Given the description of an element on the screen output the (x, y) to click on. 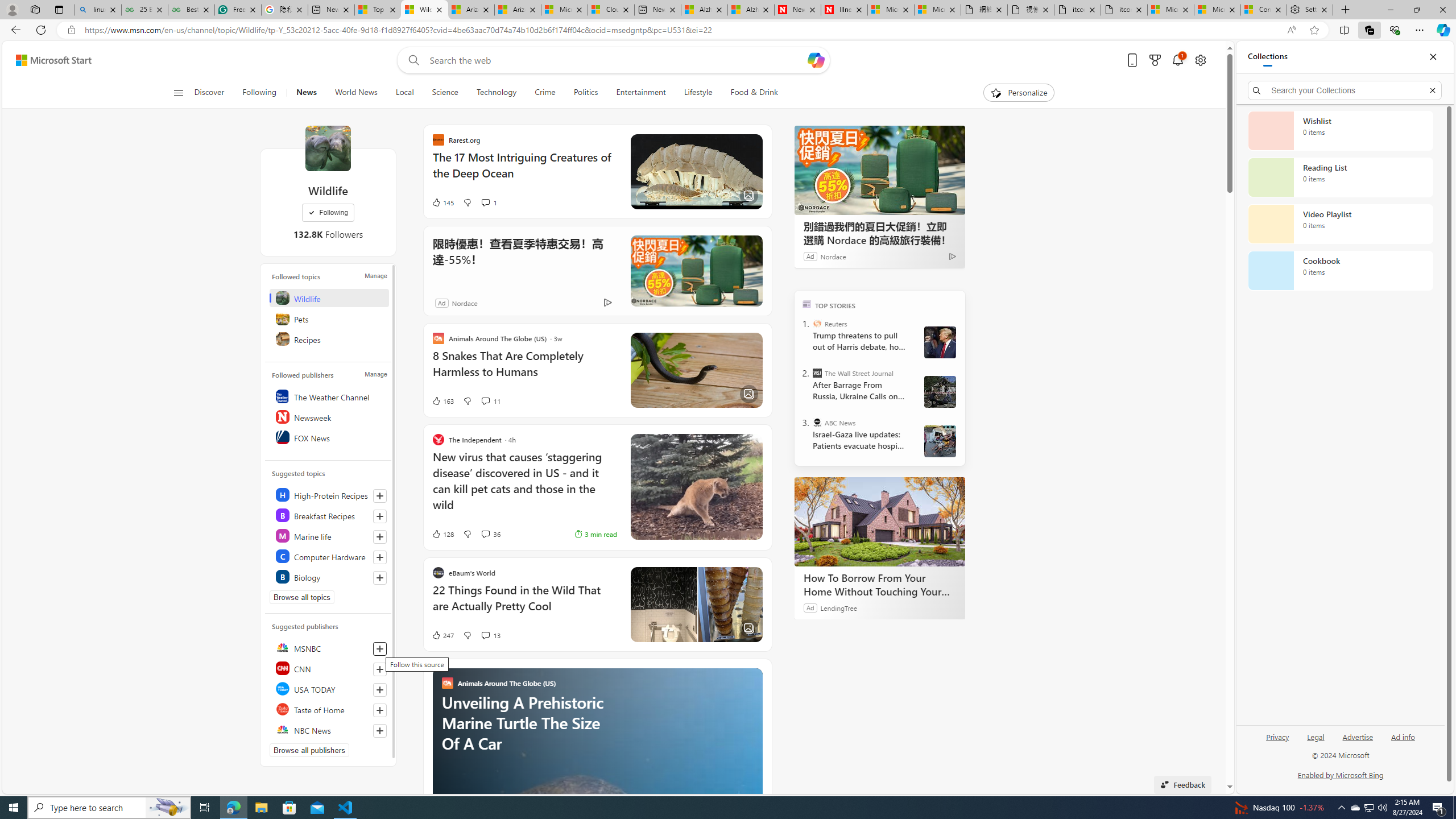
MSNBC (328, 647)
View comments 13 Comment (485, 634)
ABC News (816, 422)
Video Playlist collection, 0 items (1339, 223)
NBC News (328, 729)
145 Like (442, 202)
Follow this topic (379, 577)
Browse all topics (301, 597)
